Given the description of an element on the screen output the (x, y) to click on. 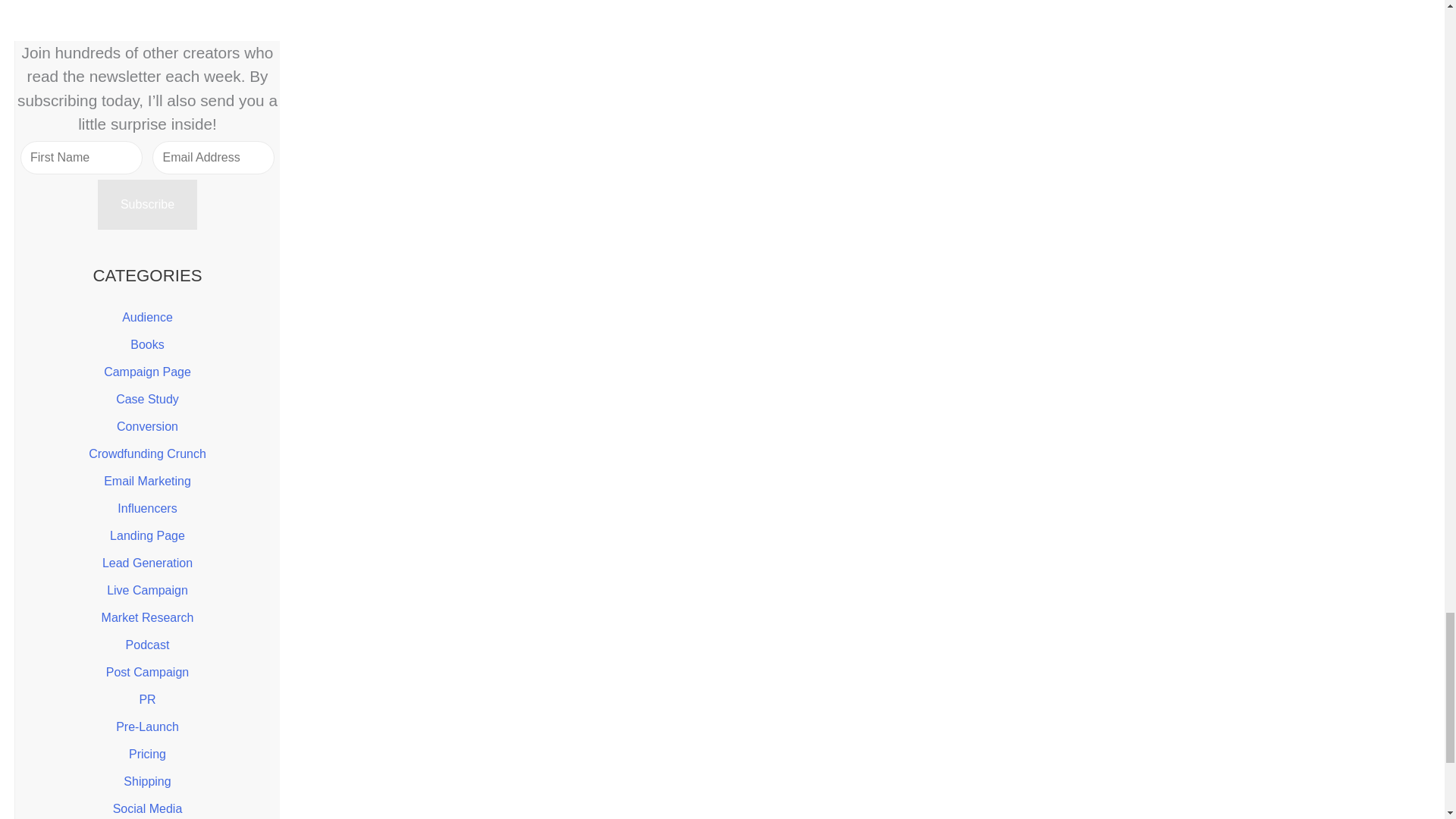
Books (147, 344)
Campaign Page (146, 371)
Audience (147, 317)
Subscribe (146, 204)
Subscribe (146, 204)
